Given the description of an element on the screen output the (x, y) to click on. 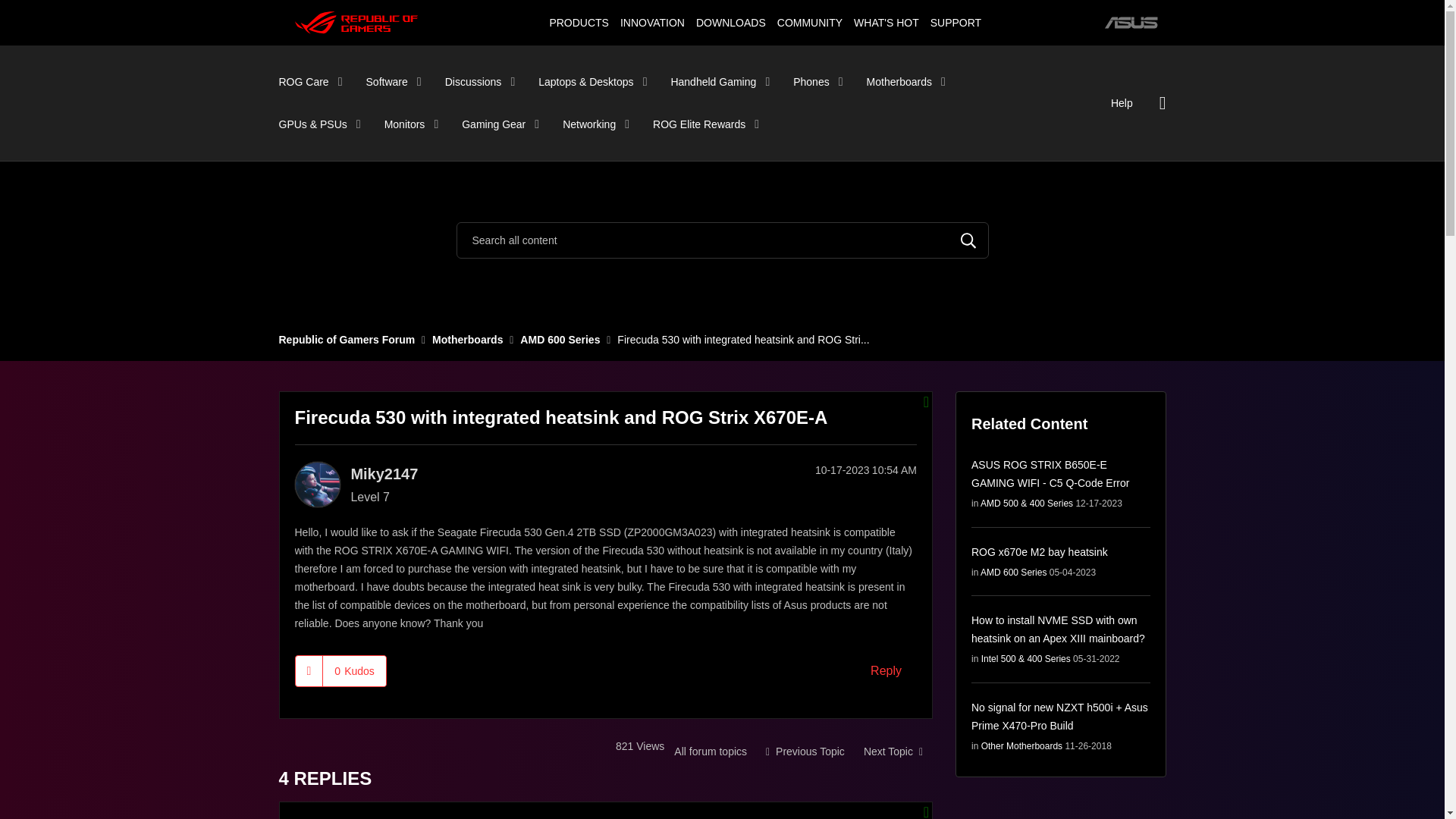
Miky2147 (316, 483)
Search (967, 239)
DOWNLOADS (730, 22)
INNOVATION (652, 22)
PRODUCTS (578, 22)
The total number of kudos this post has received. (354, 670)
Click here to give kudos to this post. (309, 670)
Search (722, 239)
COMMUNITY (809, 22)
ProArt B650 Creator 50 second delay before POST (893, 751)
Ram compatibility TUF x670e plus WiFi (804, 751)
Search (967, 239)
AMD 600 Series (710, 751)
